Given the description of an element on the screen output the (x, y) to click on. 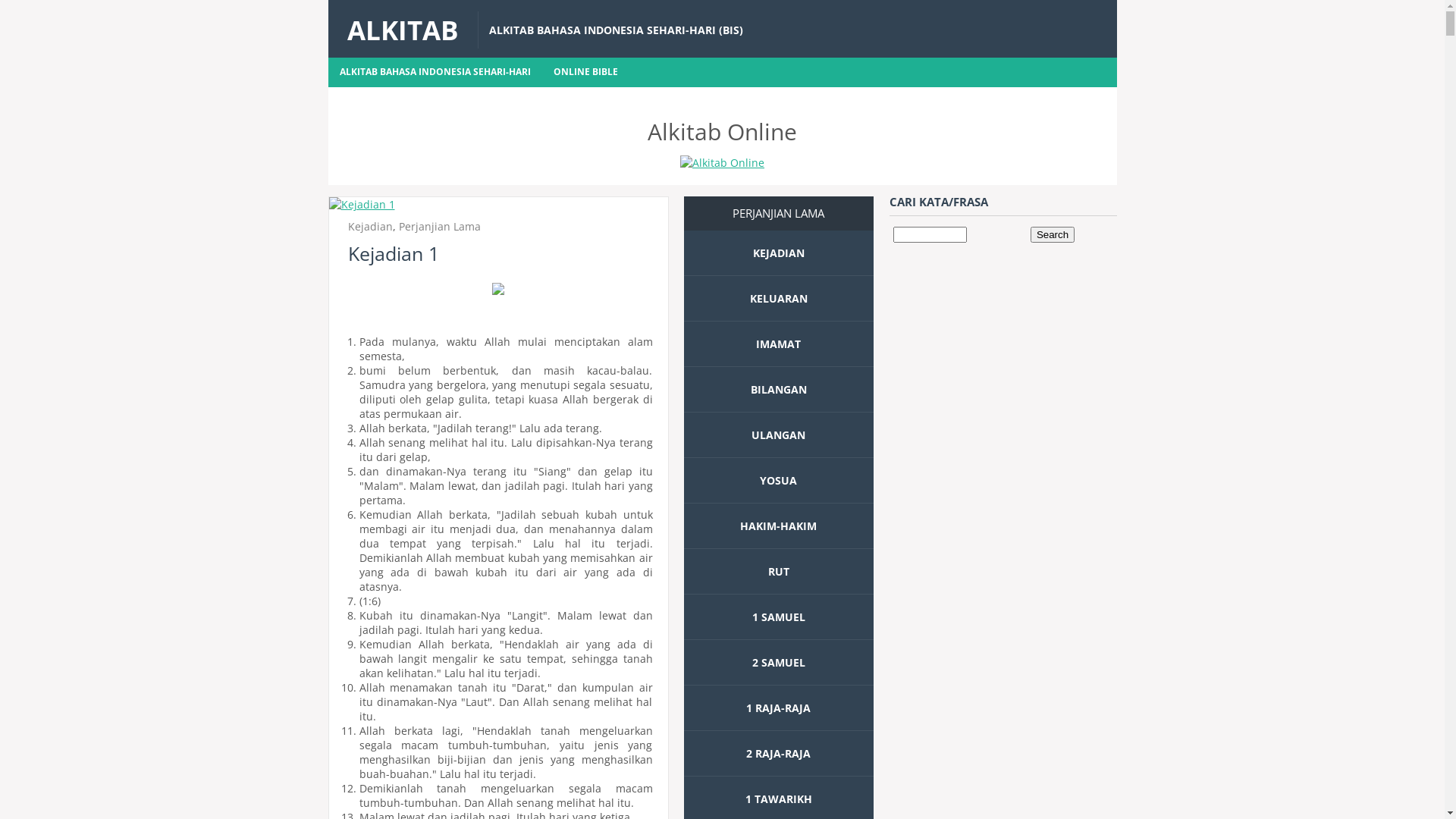
search Element type: hover (1052, 234)
ALKITAB BAHASA INDONESIA SEHARI-HARI Element type: text (434, 72)
RUT Element type: text (777, 571)
1 RAJA-RAJA Element type: text (778, 707)
2 RAJA-RAJA Element type: text (778, 753)
1 TAWARIKH Element type: text (777, 798)
HAKIM-HAKIM Element type: text (778, 525)
2 SAMUEL Element type: text (778, 662)
ALKITAB Element type: text (402, 29)
1 SAMUEL Element type: text (778, 616)
search Element type: hover (929, 234)
YOSUA Element type: text (778, 480)
KEJADIAN Element type: text (777, 252)
BILANGAN Element type: text (778, 389)
Kejadian Element type: text (369, 226)
Kejadian 1 Element type: text (392, 253)
Search Element type: text (1052, 234)
ALKITAB BAHASA INDONESIA SEHARI-HARI (BIS) Element type: text (615, 27)
IMAMAT Element type: text (778, 343)
KELUARAN Element type: text (777, 298)
ULANGAN Element type: text (778, 434)
ONLINE BIBLE Element type: text (584, 72)
Perjanjian Lama Element type: text (439, 226)
